Given the description of an element on the screen output the (x, y) to click on. 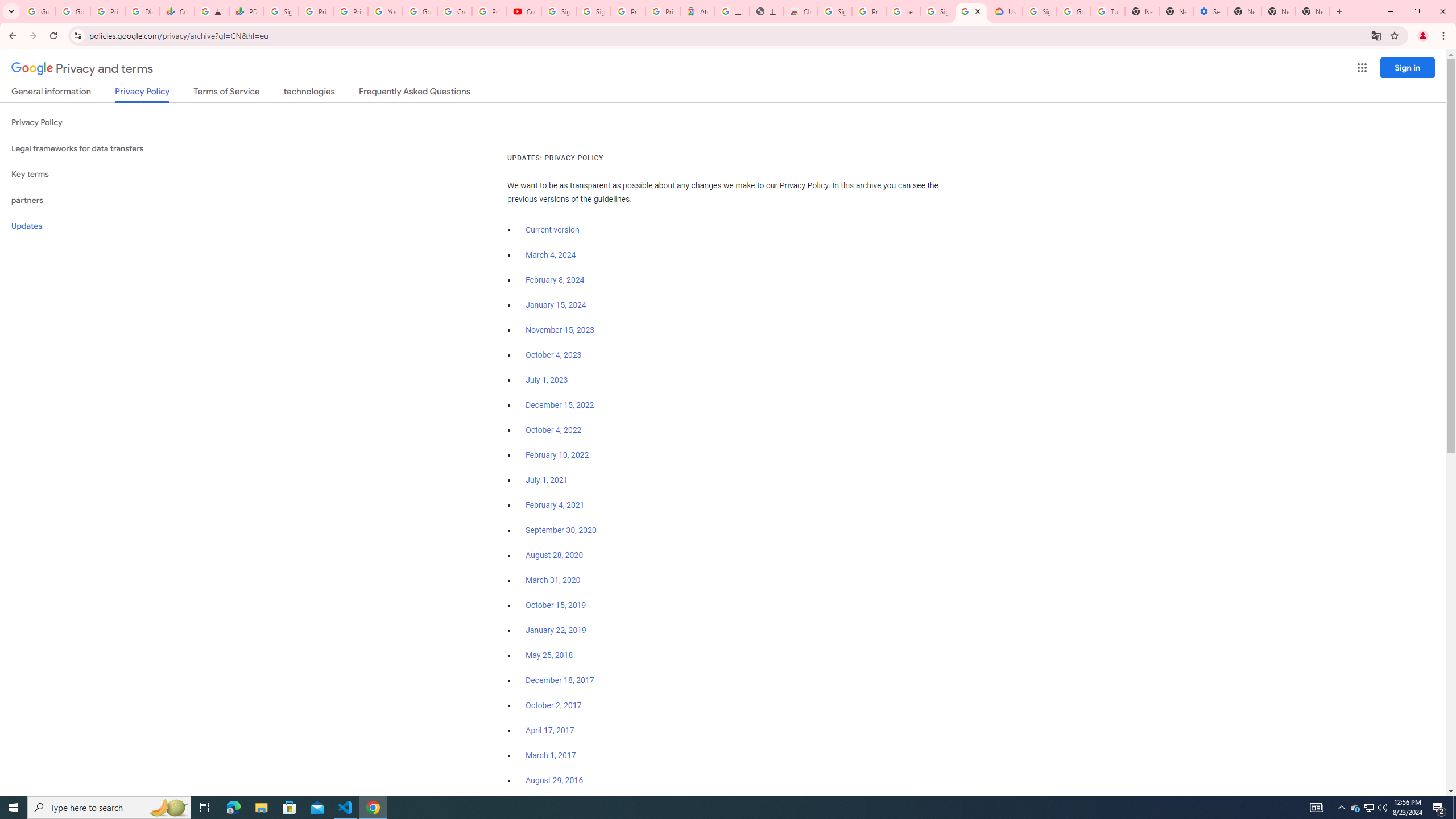
Chrome Web Store - Color themes by Chrome (800, 11)
February 10, 2022 (557, 455)
Sign in - Google Accounts (1039, 11)
Turn cookies on or off - Computer - Google Account Help (1107, 11)
August 28, 2020 (553, 555)
Content Creator Programs & Opportunities - YouTube Creators (524, 11)
Google Account Help (419, 11)
February 4, 2021 (555, 505)
technologies (308, 93)
